Given the description of an element on the screen output the (x, y) to click on. 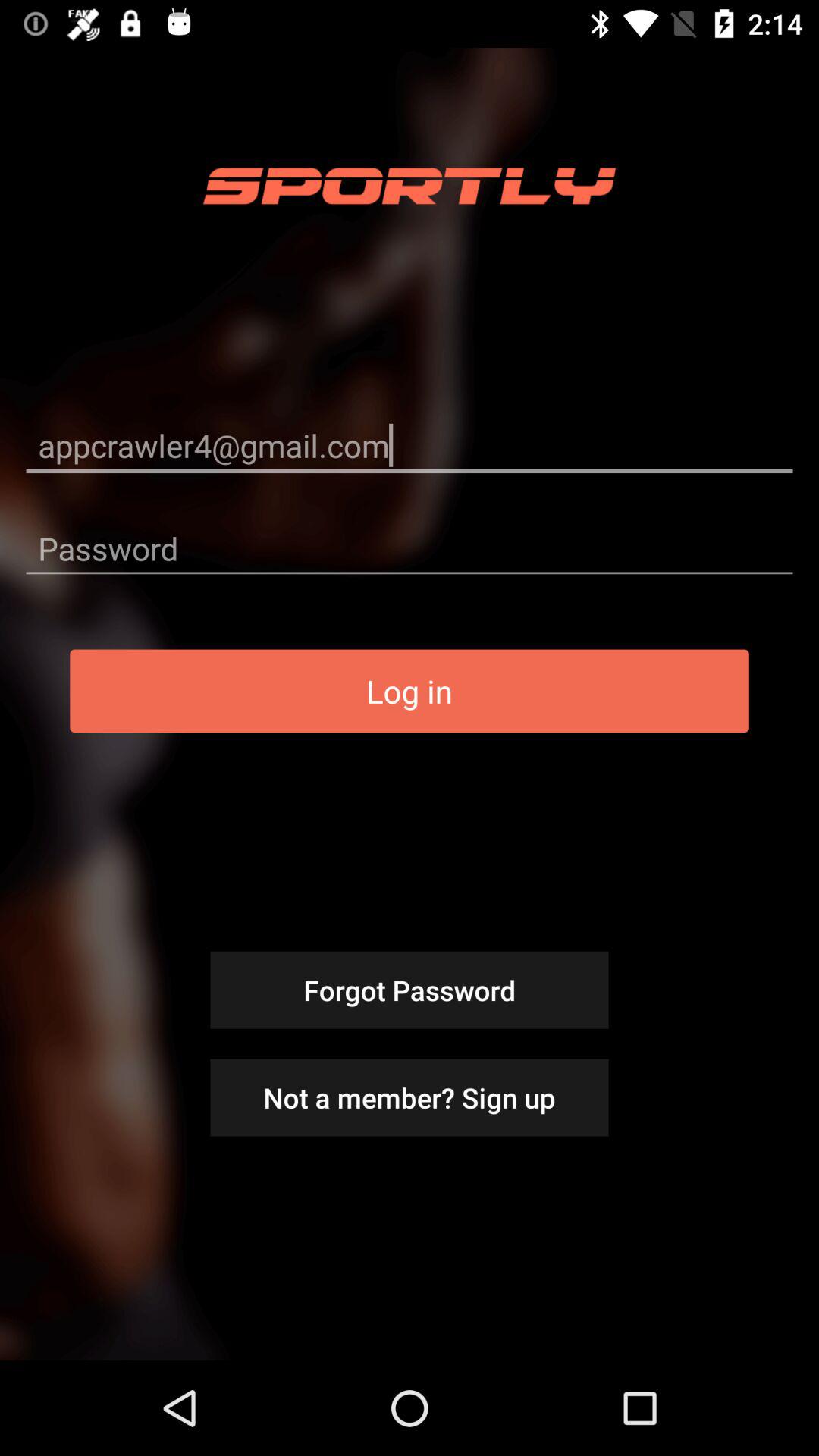
press item below the forgot password item (409, 1097)
